Given the description of an element on the screen output the (x, y) to click on. 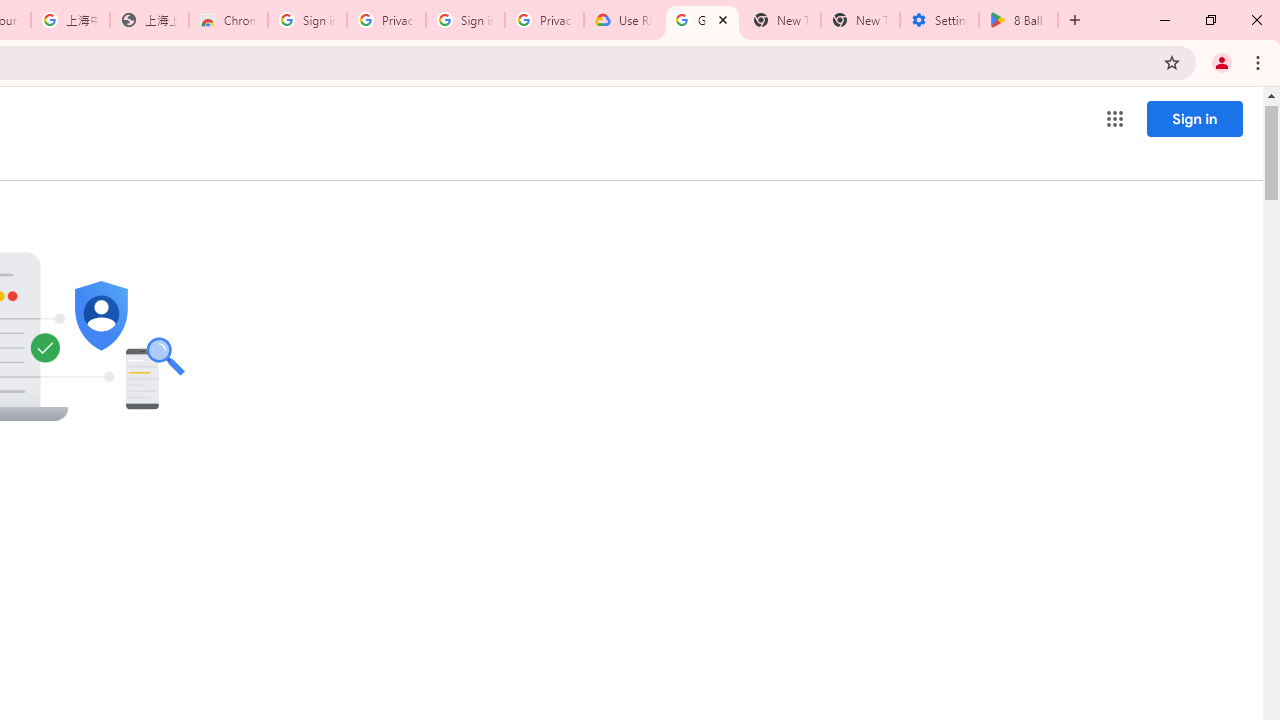
Sign in - Google Accounts (465, 20)
